Given the description of an element on the screen output the (x, y) to click on. 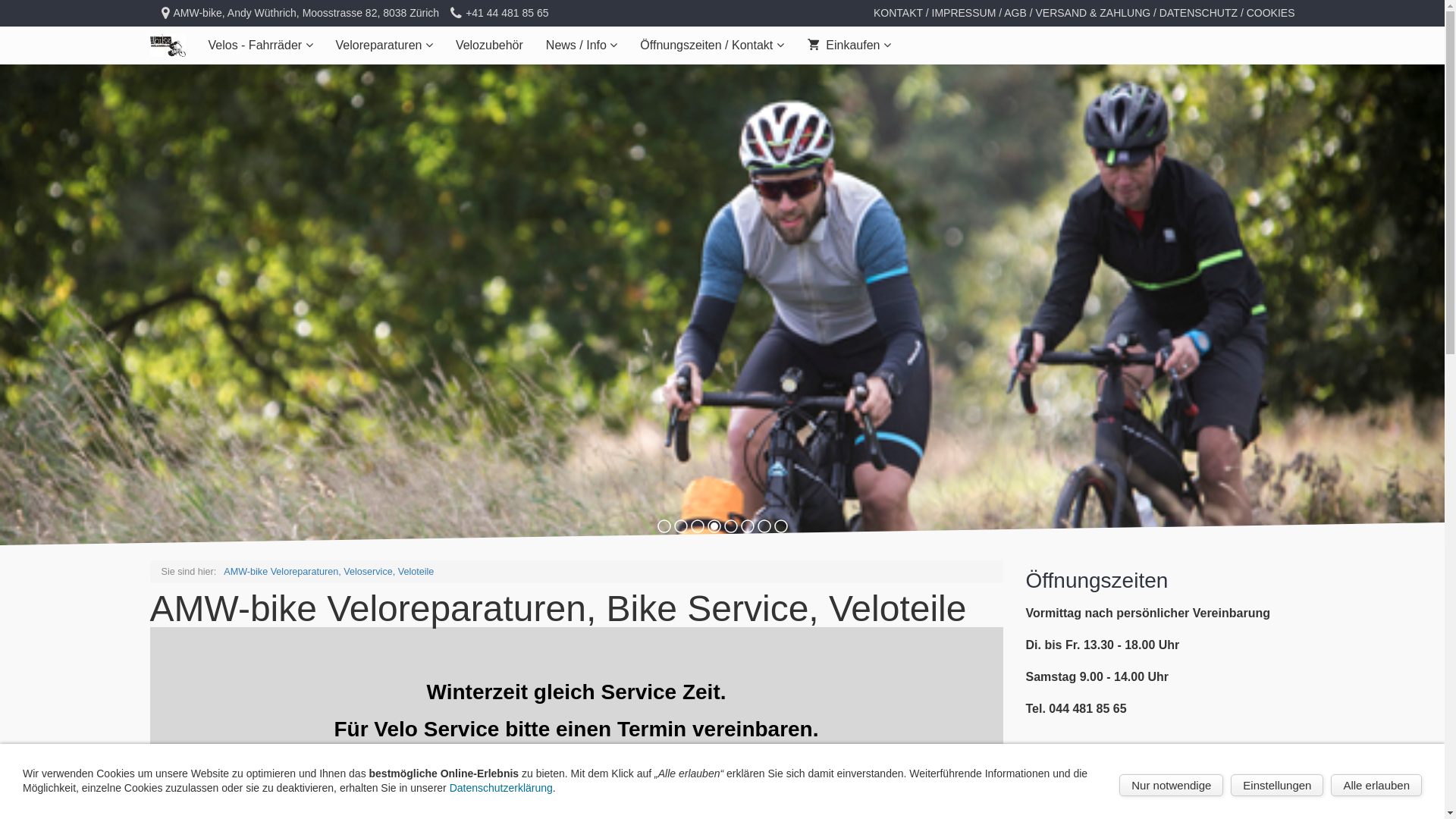
VERSAND & ZAHLUNG Element type: text (1092, 12)
Alle erlauben Element type: text (1375, 785)
Nur notwendige Element type: text (1171, 785)
COOKIES Element type: text (1270, 12)
News / Info Element type: text (581, 45)
KONTAKT Element type: text (897, 12)
DATENSCHUTZ Element type: text (1198, 12)
AGB Element type: text (1015, 12)
IMPRESSUM Element type: text (963, 12)
Einstellungen Element type: text (1276, 785)
AMW-bike Veloreparaturen, Veloservice, Veloteile Element type: text (328, 571)
Einkaufen Element type: text (848, 45)
Veloreparaturen Element type: text (384, 45)
